Given the description of an element on the screen output the (x, y) to click on. 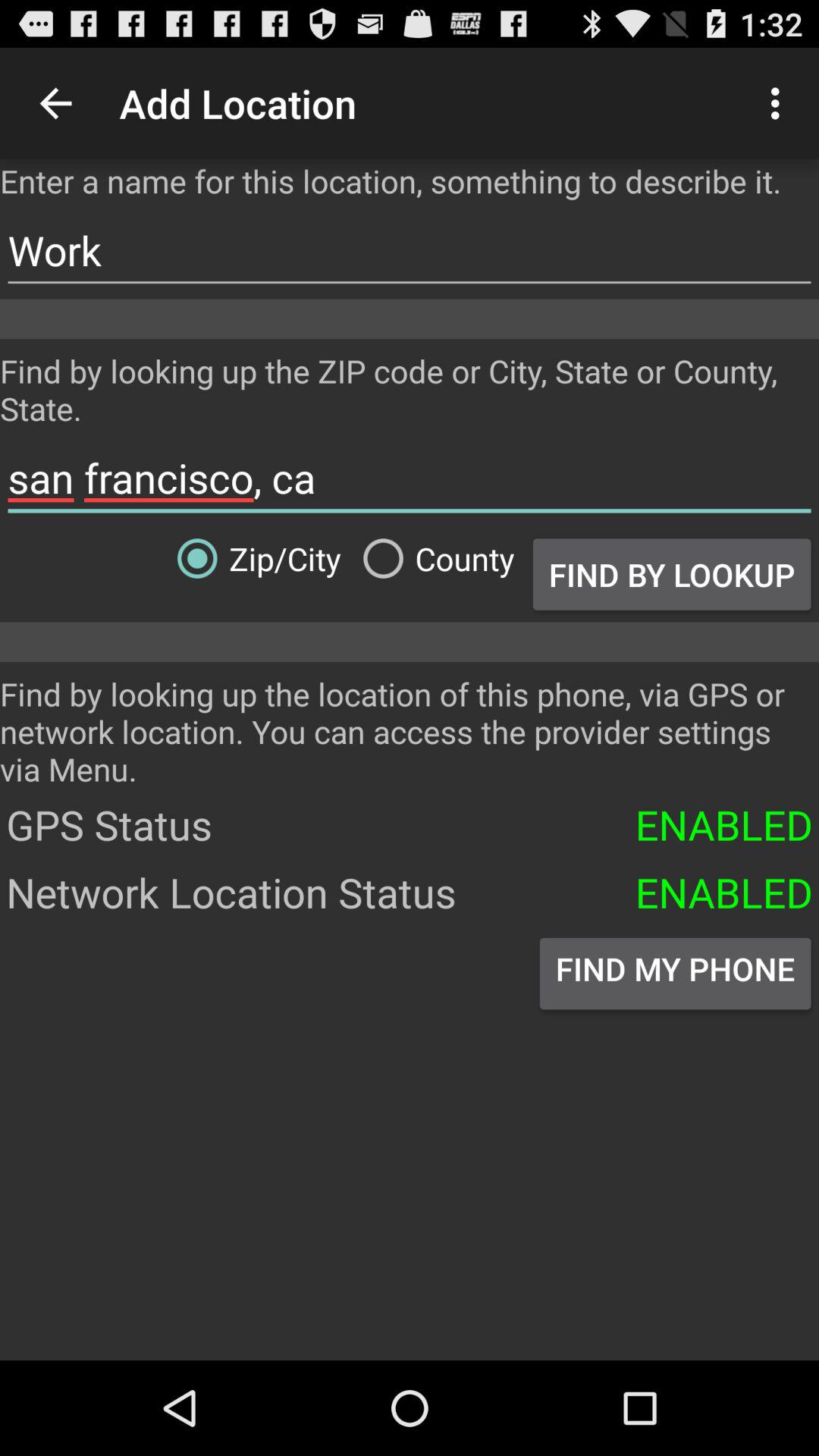
turn on san francisco, ca item (409, 477)
